Given the description of an element on the screen output the (x, y) to click on. 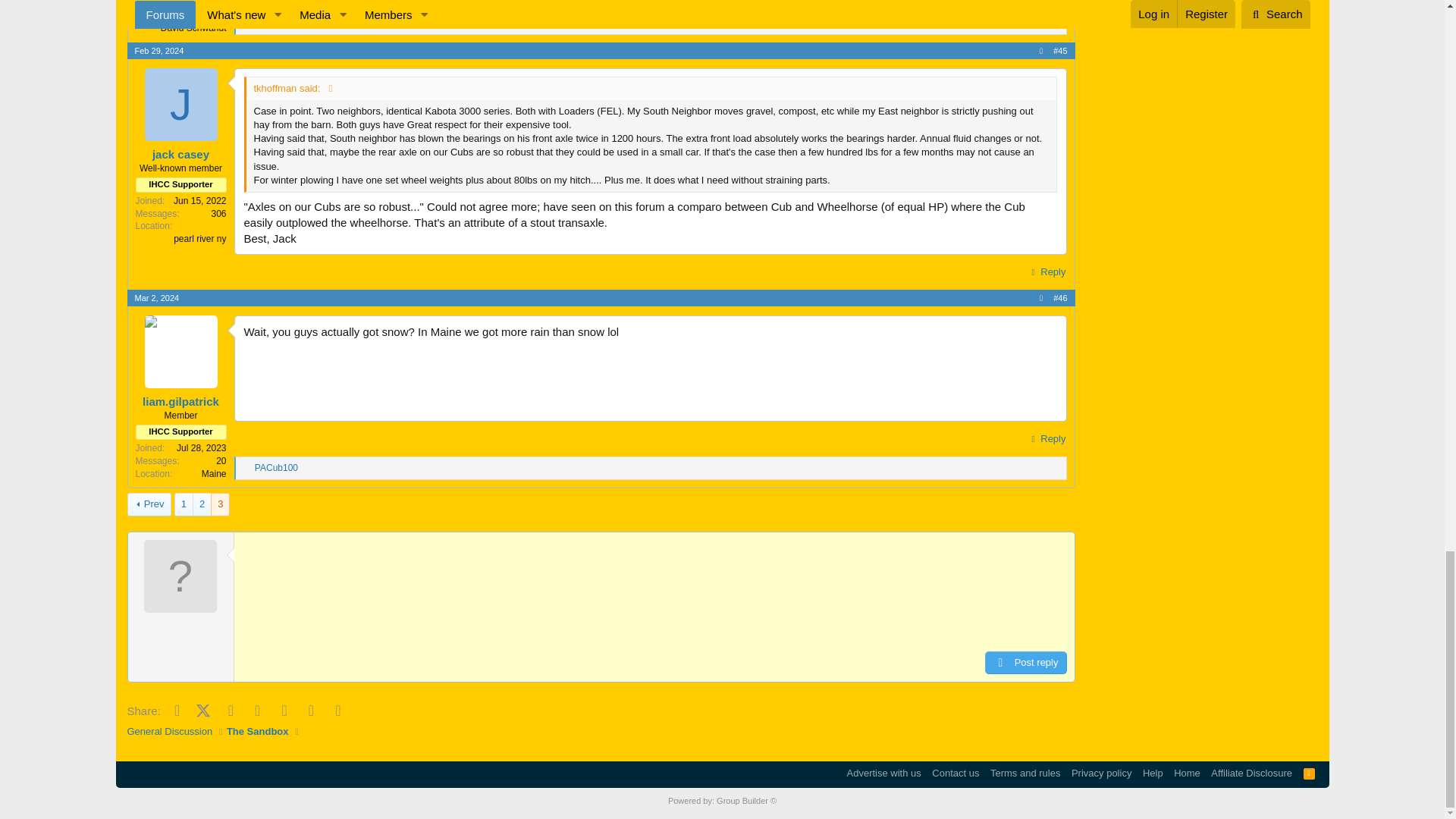
Reply, quoting this message (1046, 1)
Reply, quoting this message (1046, 271)
Like (245, 23)
Feb 29, 2024 at 3:06 PM (159, 50)
